Given the description of an element on the screen output the (x, y) to click on. 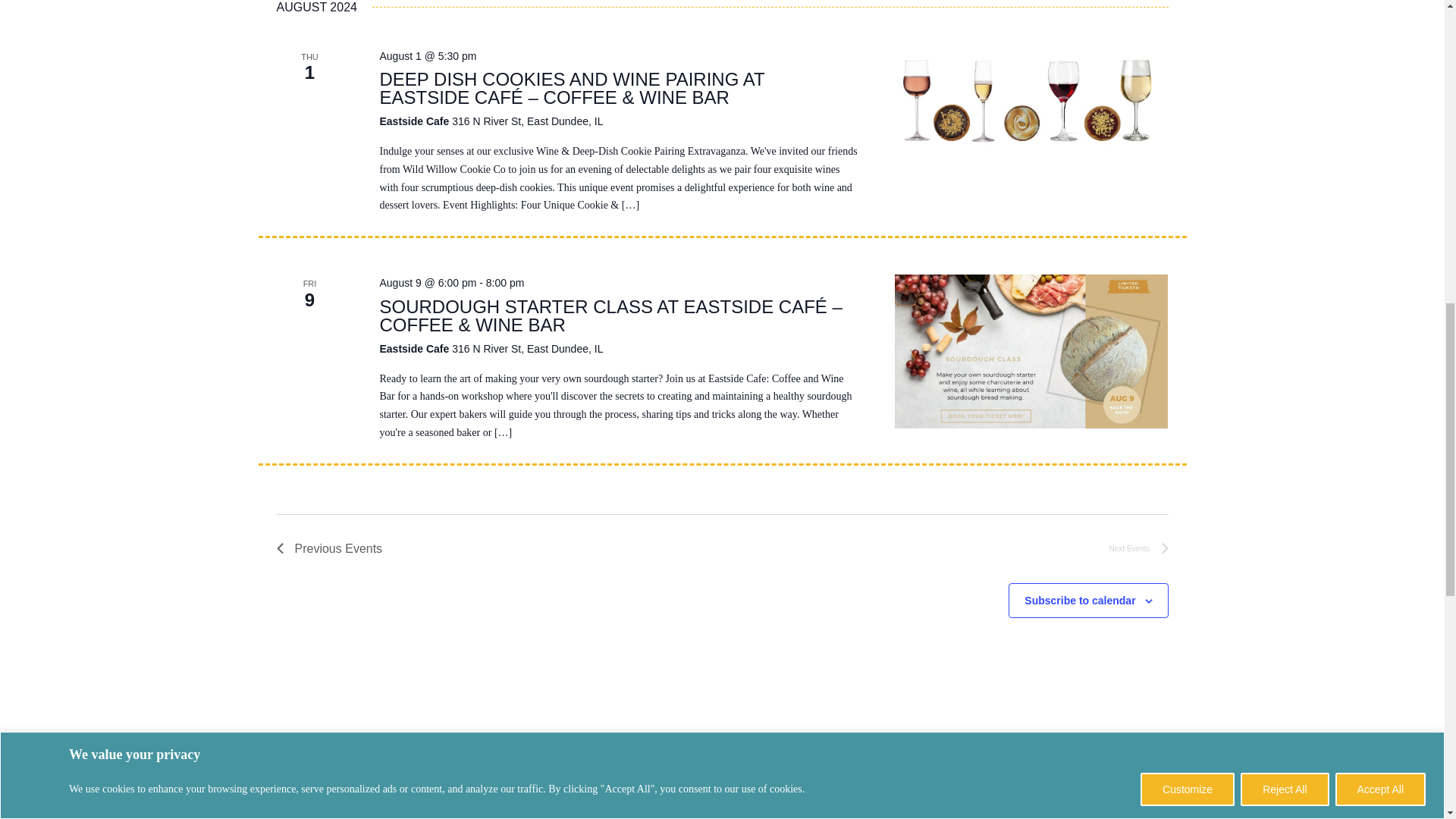
Previous Events (328, 548)
